Given the description of an element on the screen output the (x, y) to click on. 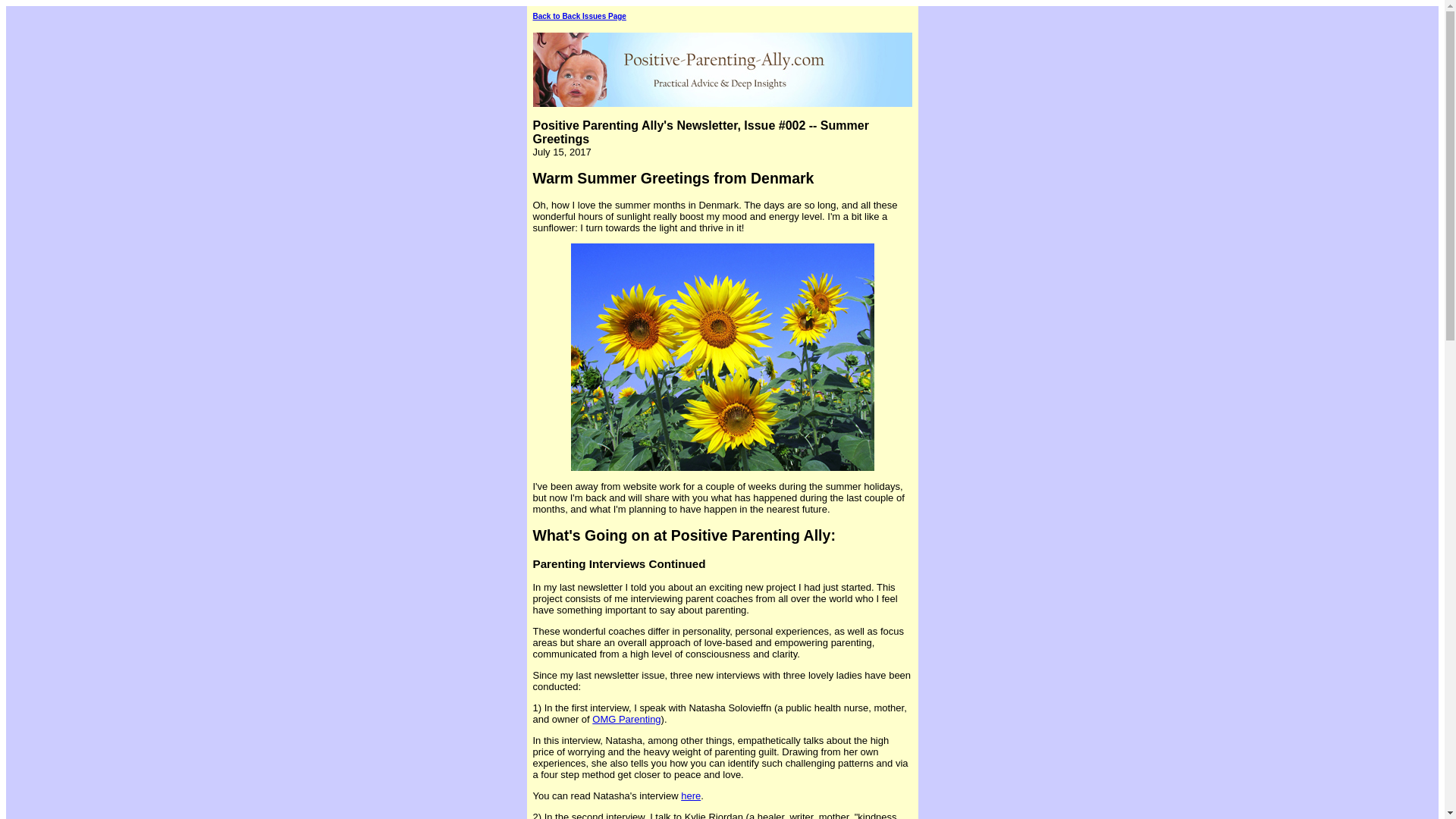
here (690, 795)
OMG Parenting (626, 718)
Back to Back Issues Page (579, 16)
